Given the description of an element on the screen output the (x, y) to click on. 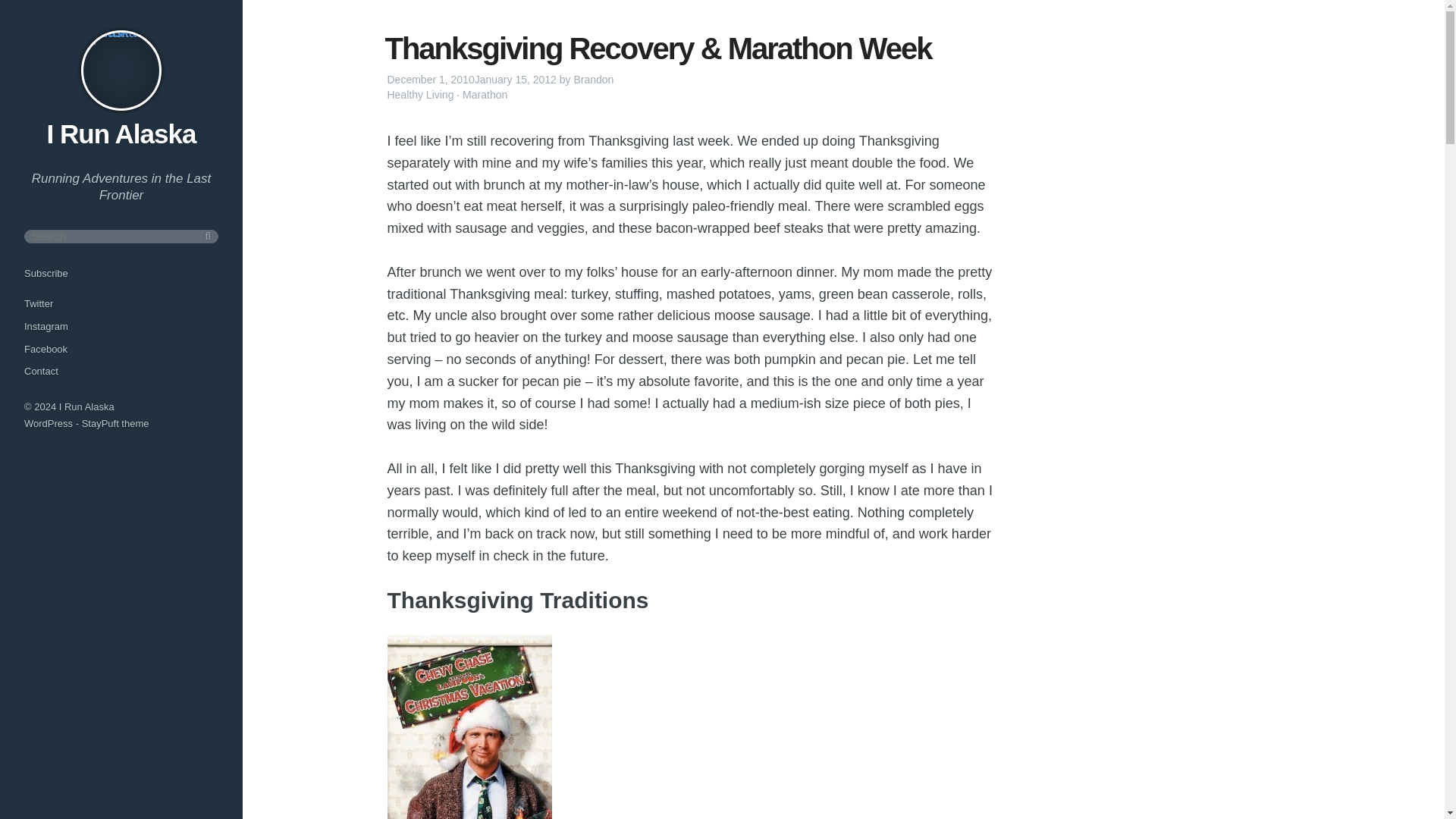
I Run Alaska (87, 406)
Instagram (46, 326)
Marathon (484, 94)
Contact (41, 370)
Twitter (38, 303)
StayPuft theme (115, 423)
WordPress (48, 423)
Brandon (592, 79)
Healthy Living (419, 94)
I Run Alaska (121, 133)
